Given the description of an element on the screen output the (x, y) to click on. 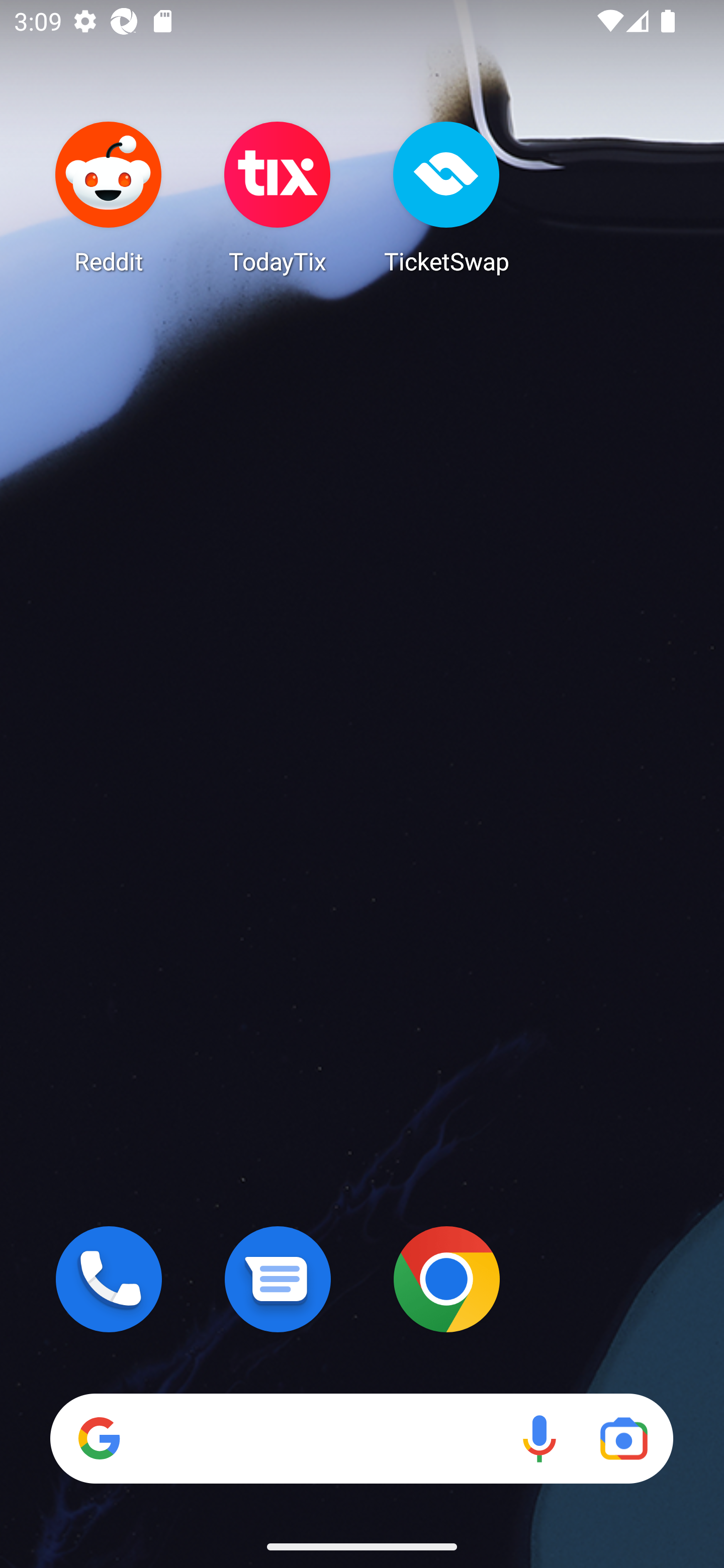
Reddit (108, 196)
TodayTix (277, 196)
TicketSwap (445, 196)
Phone (108, 1279)
Messages (277, 1279)
Chrome (446, 1279)
Voice search (539, 1438)
Google Lens (623, 1438)
